Given the description of an element on the screen output the (x, y) to click on. 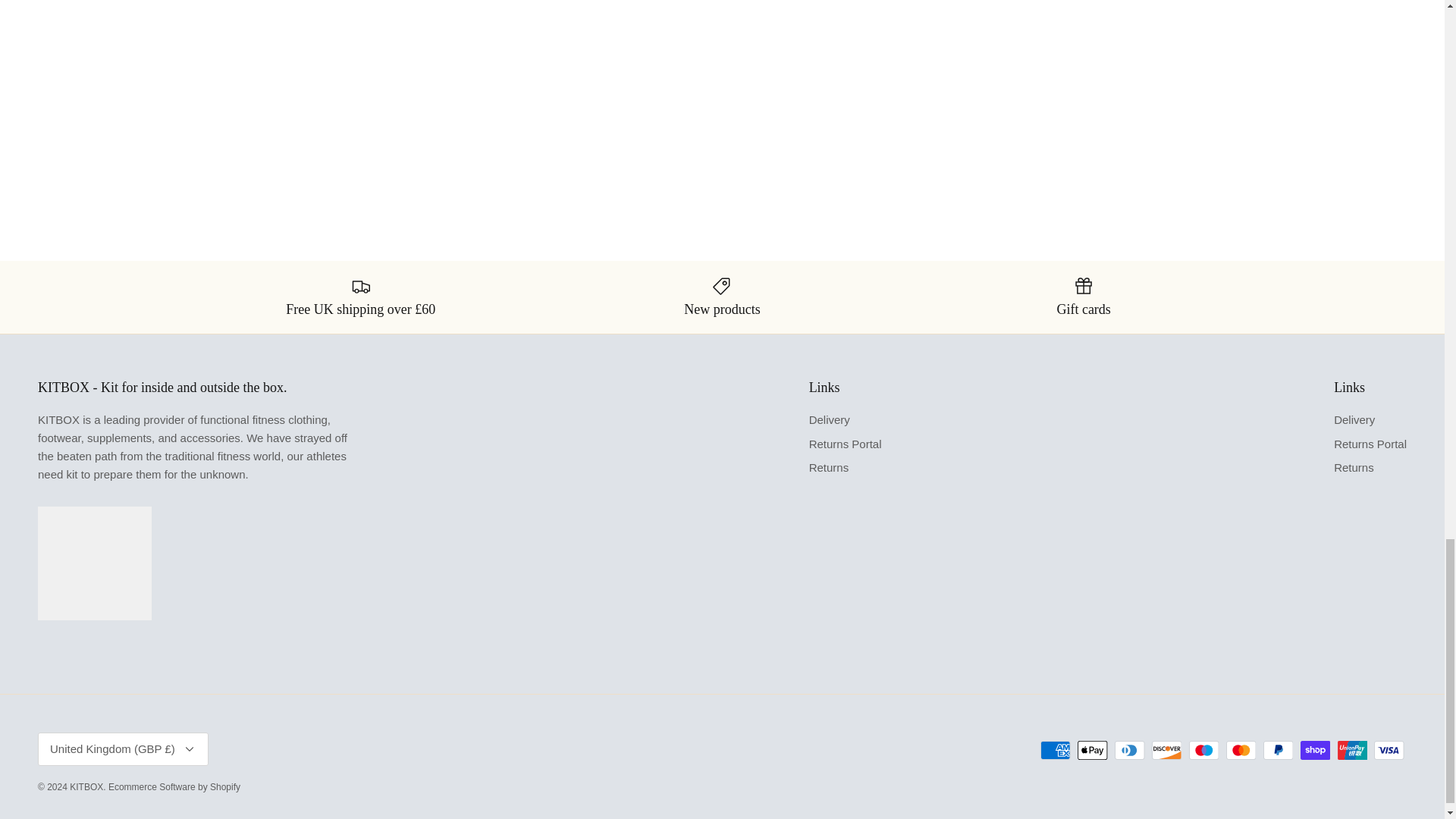
Diners Club (1129, 750)
Discover (1166, 750)
PayPal (1277, 750)
Shop Pay (1315, 750)
Apple Pay (1092, 750)
Mastercard (1240, 750)
Union Pay (1352, 750)
Visa (1388, 750)
Maestro (1203, 750)
American Express (1055, 750)
